Given the description of an element on the screen output the (x, y) to click on. 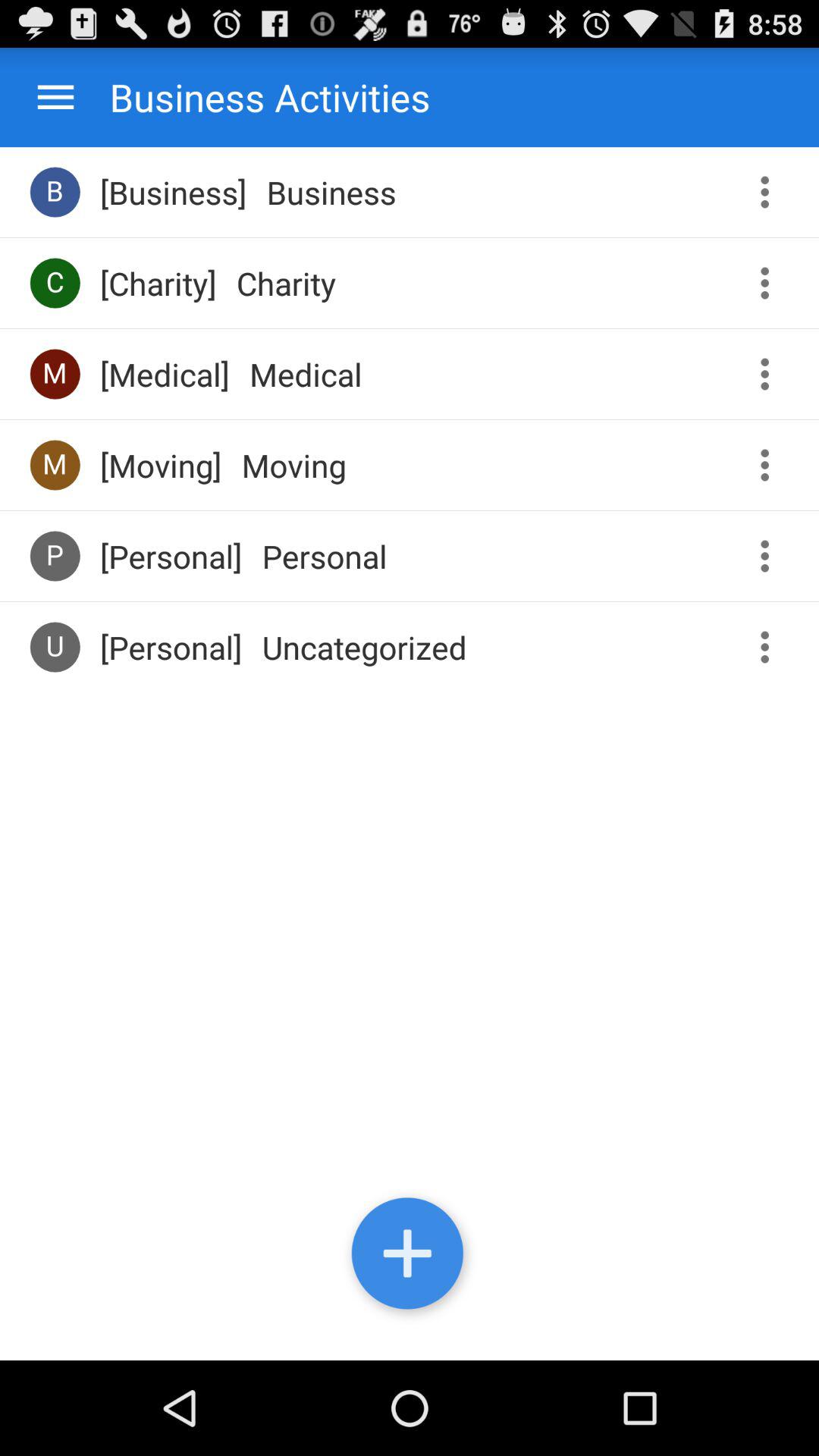
tap app to the left of the [personal] item (55, 646)
